Given the description of an element on the screen output the (x, y) to click on. 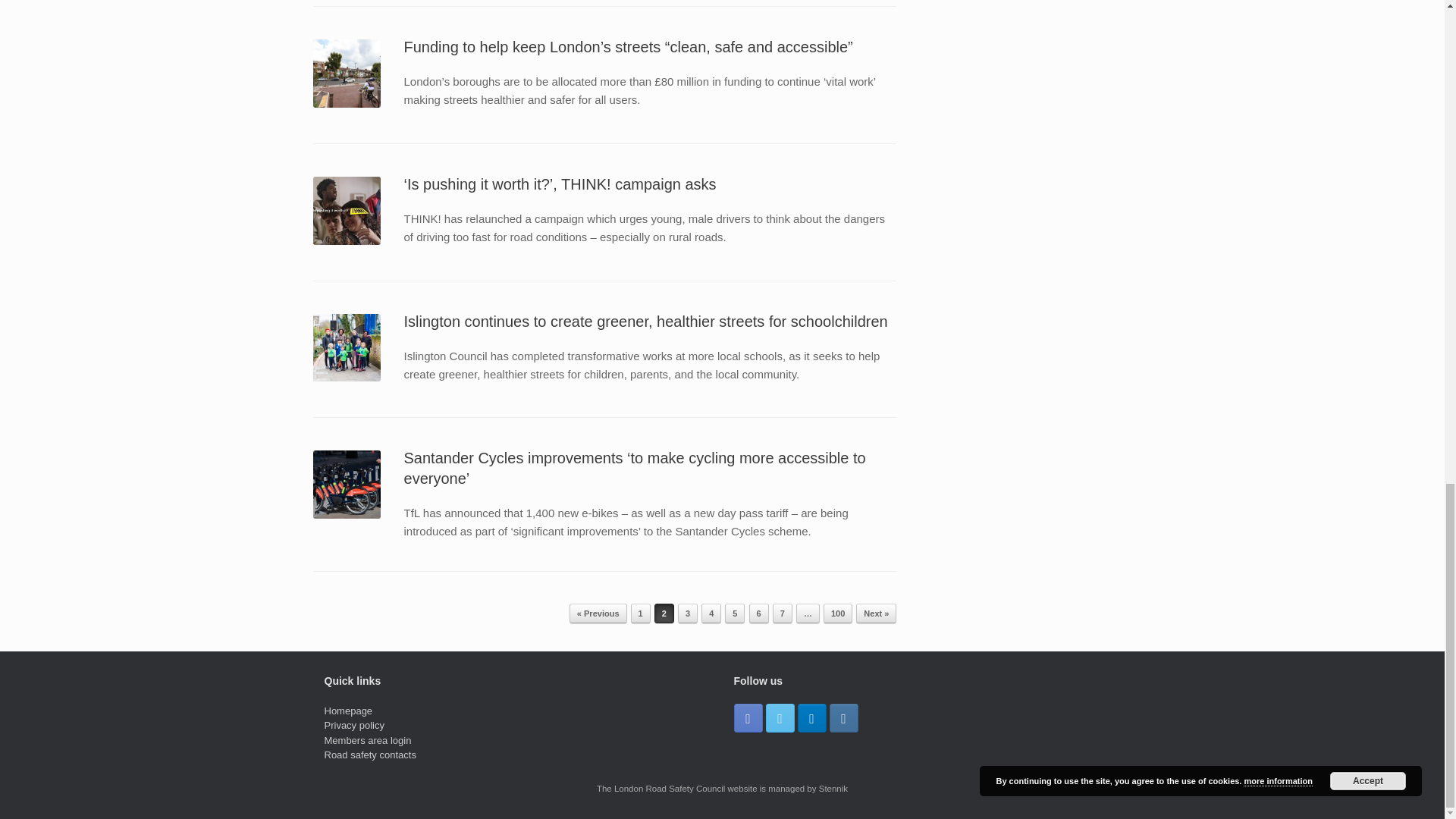
London Road Safety Council Twitter (779, 717)
London Road Safety Council Facebook (747, 717)
